Given the description of an element on the screen output the (x, y) to click on. 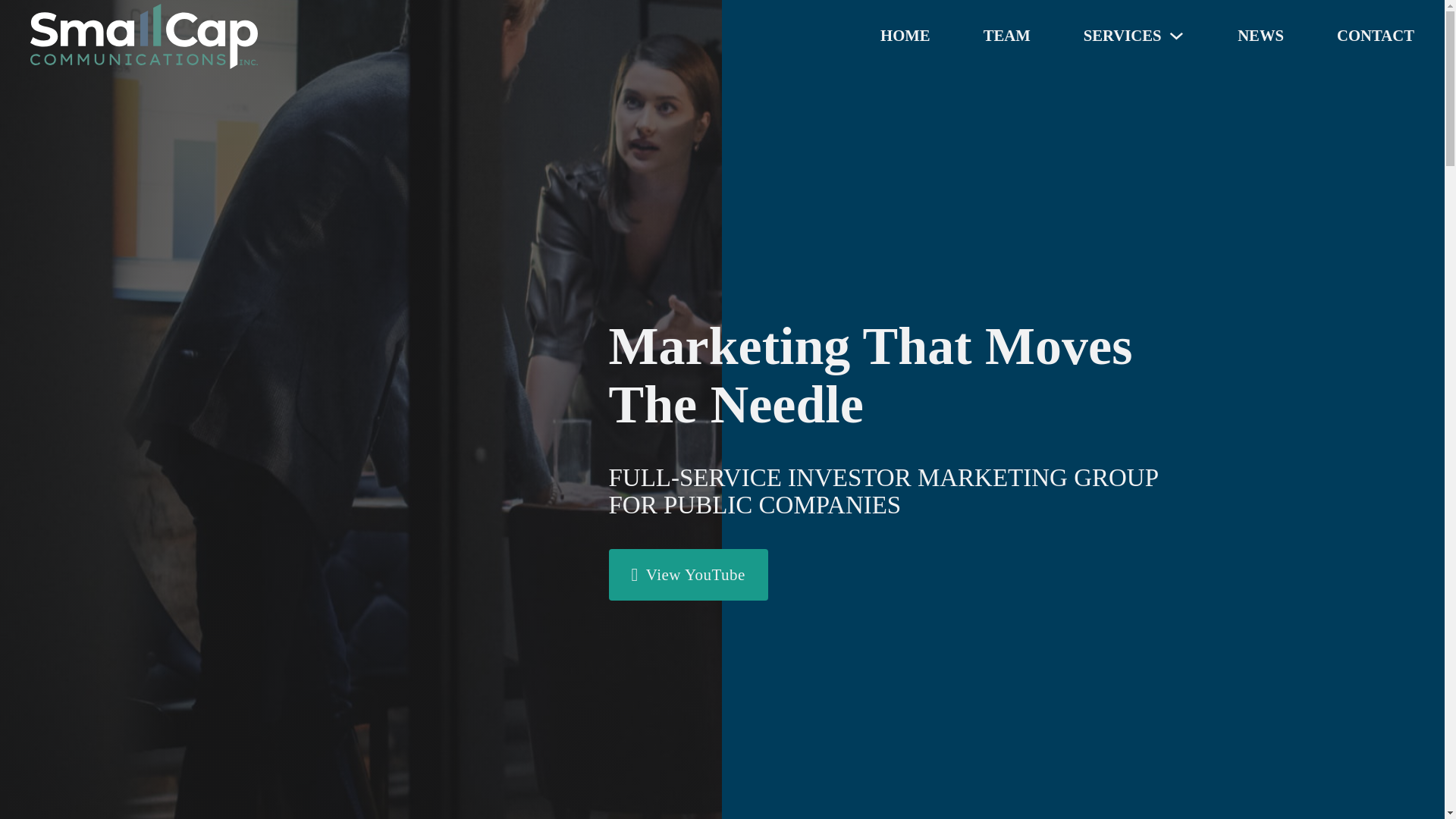
SERVICES (1122, 36)
CONTACT (1374, 36)
TEAM (1007, 36)
NEWS (1260, 36)
View YouTube (687, 574)
HOME (905, 36)
